Given the description of an element on the screen output the (x, y) to click on. 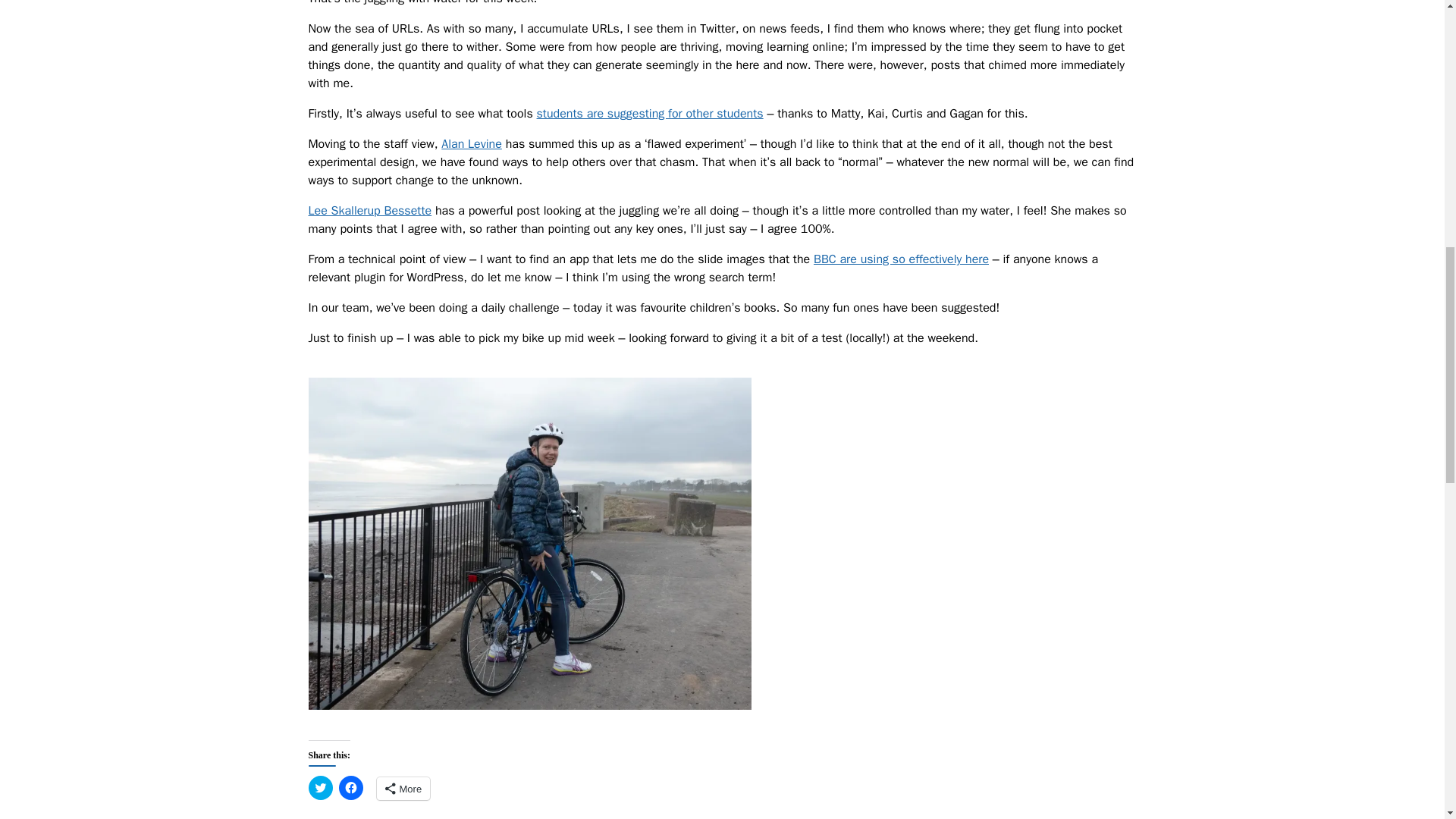
Click to share on Facebook (349, 787)
Alan Levine (471, 143)
students are suggesting for other students (649, 113)
BBC are using so effectively here (900, 258)
Click to share on Twitter (319, 787)
More (402, 788)
Lee Skallerup Bessette (368, 210)
